Given the description of an element on the screen output the (x, y) to click on. 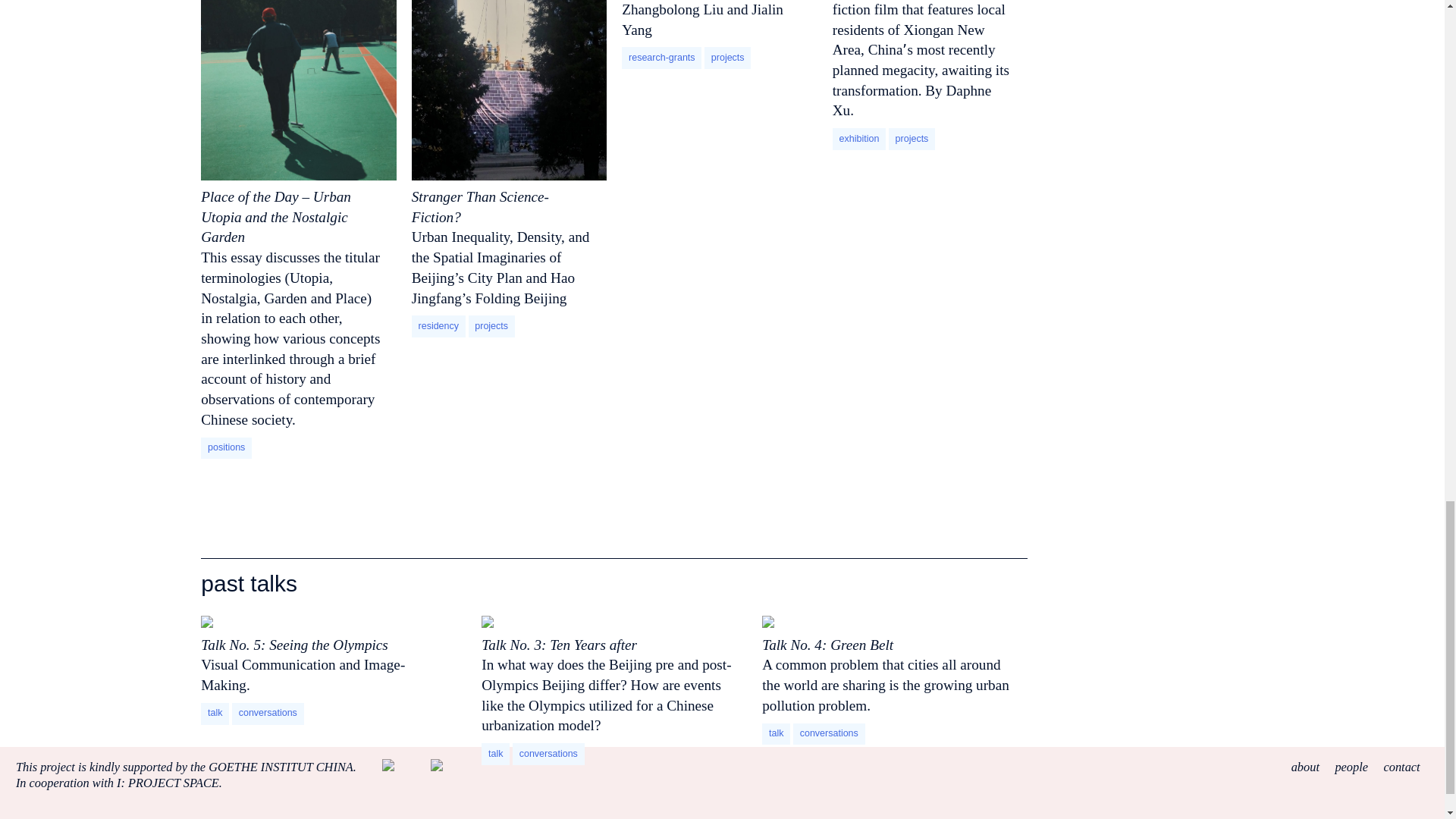
contact (1401, 766)
people (1351, 766)
GOETHE INSTITUT CHINA (280, 766)
I: PROJECT SPACE (167, 782)
about (1305, 766)
